Given the description of an element on the screen output the (x, y) to click on. 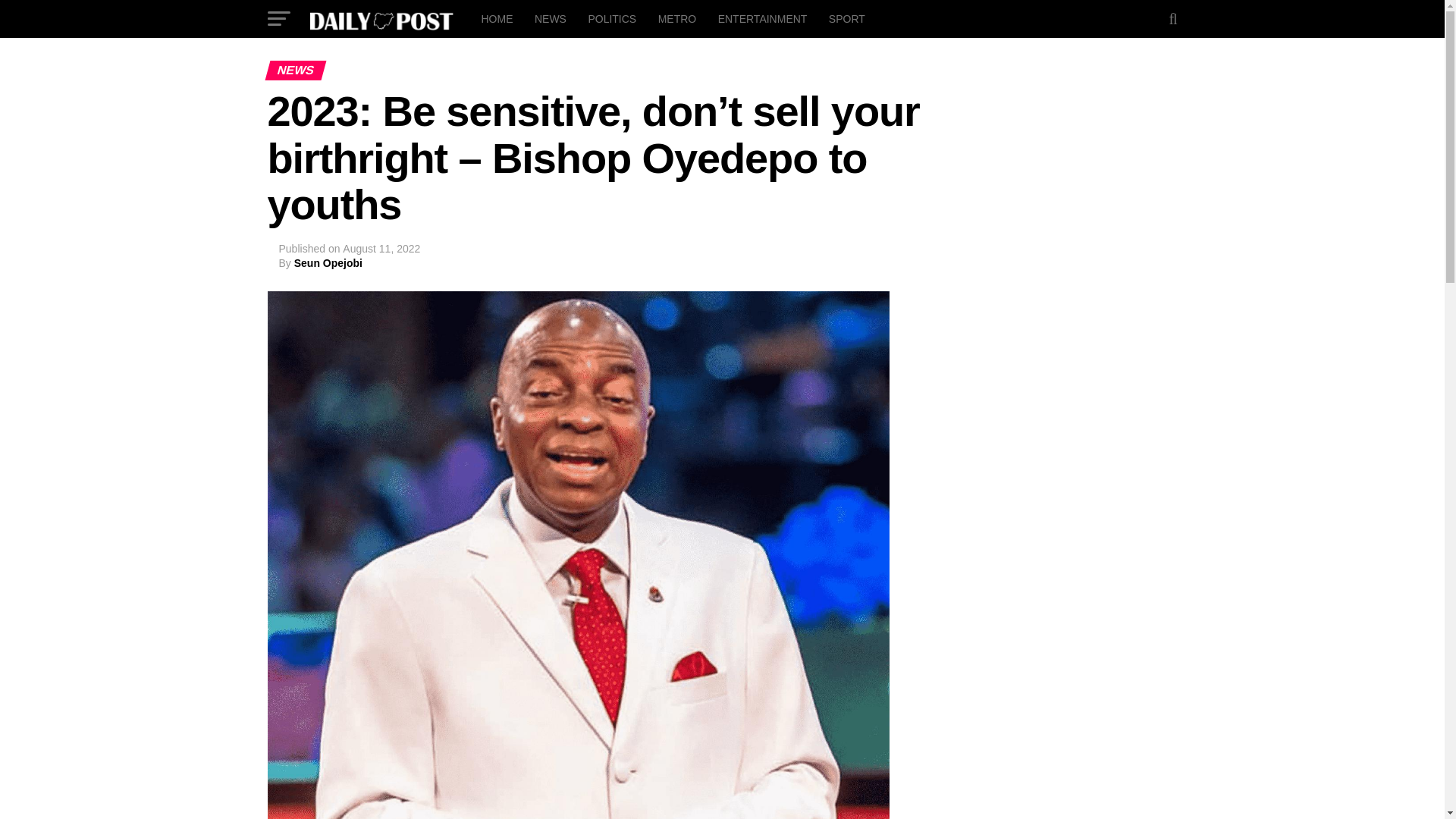
Posts by Seun Opejobi (328, 263)
NEWS (550, 18)
HOME (496, 18)
Seun Opejobi (328, 263)
METRO (677, 18)
ENTERTAINMENT (762, 18)
POLITICS (611, 18)
SPORT (847, 18)
